Given the description of an element on the screen output the (x, y) to click on. 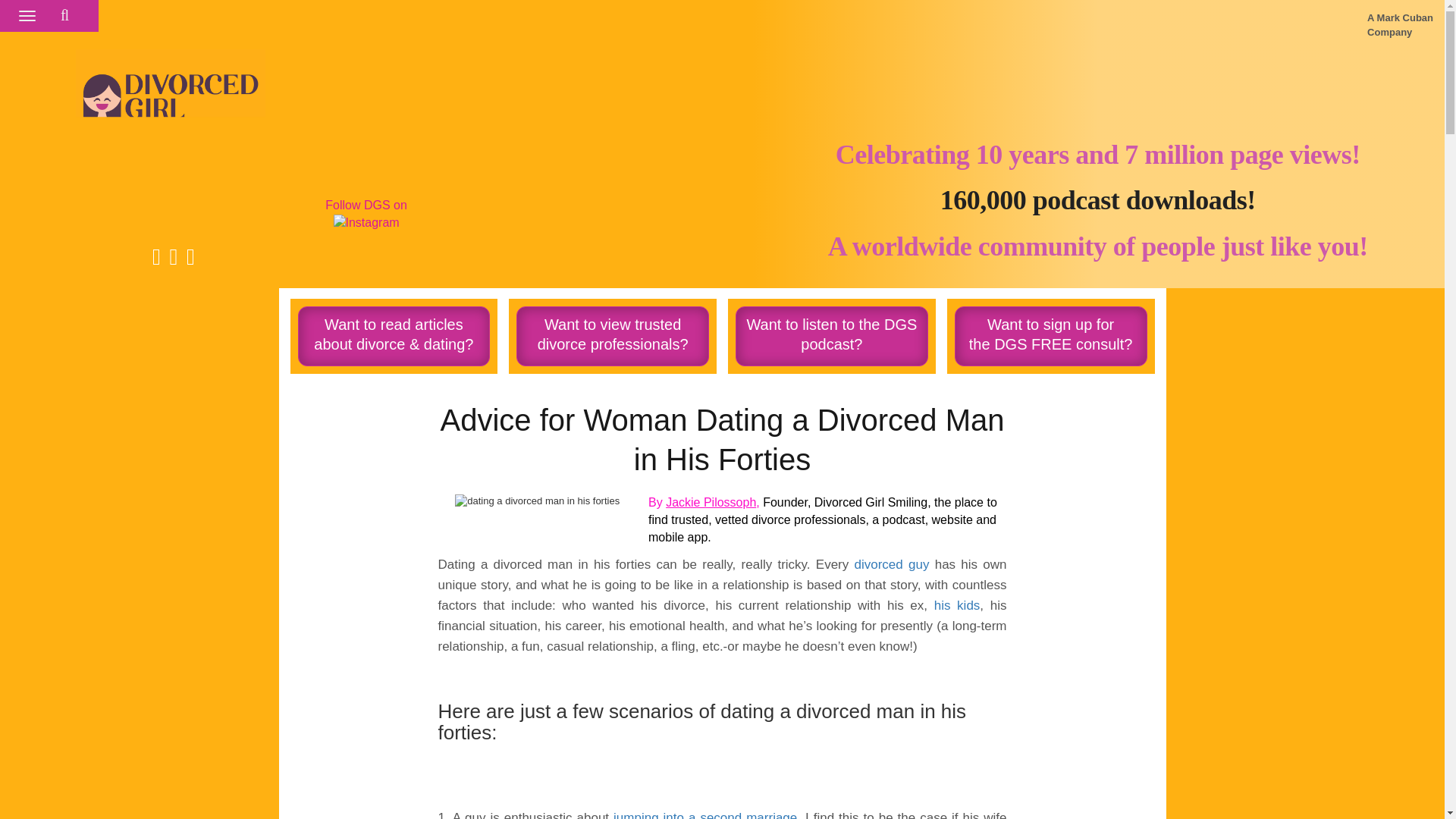
Second Marriage After 50: Topics to Discuss (704, 814)
jumping into a second marriage (704, 814)
Affiliates in Counseling (956, 605)
Want to listen to the DGS podcast? (831, 336)
divorced guy (892, 564)
Follow DGS on (365, 214)
Jackie Pilossoph (710, 502)
Toggle navigation (55, 15)
Want to view trusted divorce professionals? (612, 336)
his kids (1051, 336)
